Given the description of an element on the screen output the (x, y) to click on. 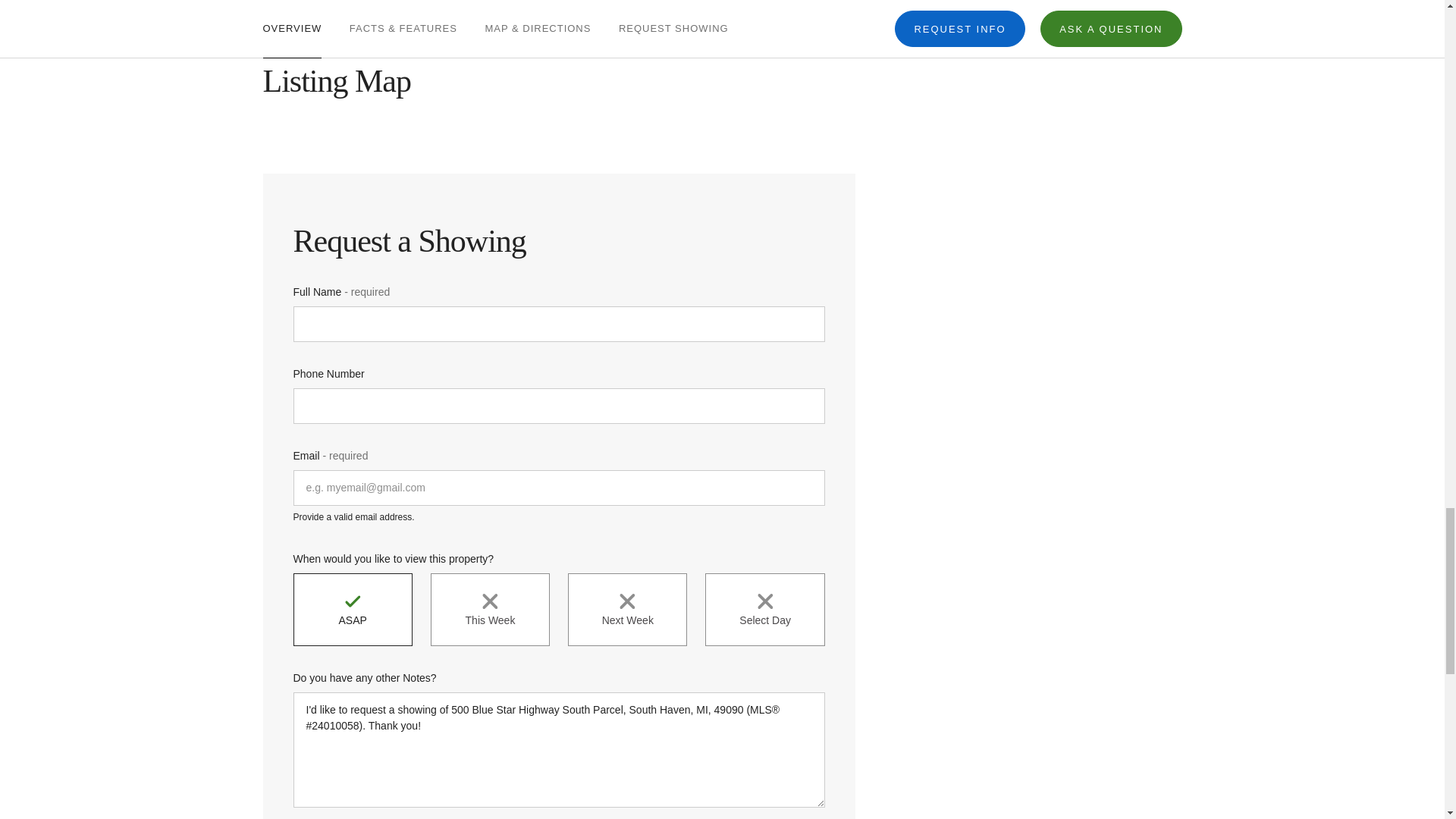
ASAP (352, 609)
Next Week (627, 609)
This Week (490, 609)
